Given the description of an element on the screen output the (x, y) to click on. 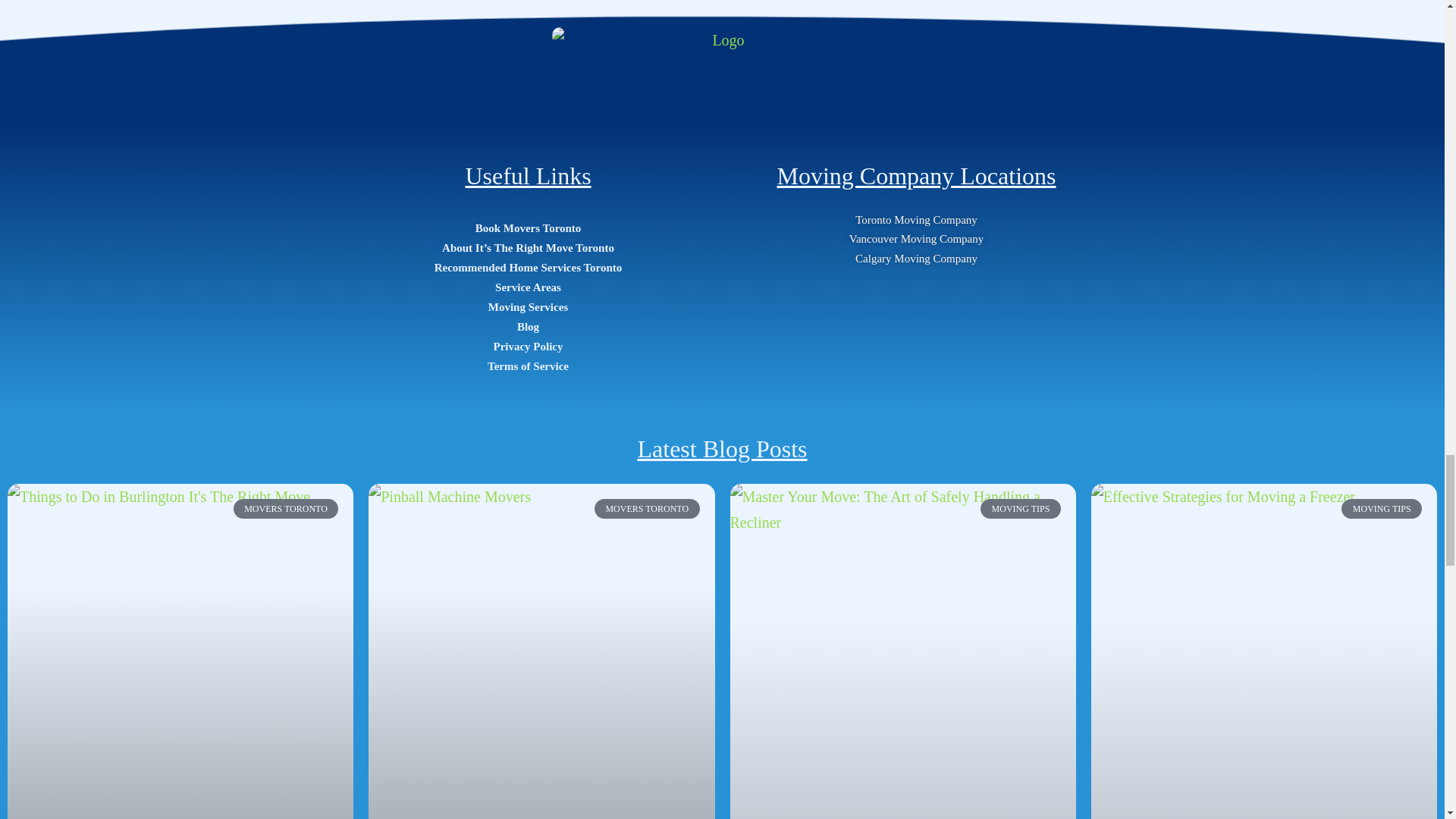
Pinball Machine Movers (541, 582)
Master Your Move: The Art of Safely Handling a Recliner (902, 651)
Logo (721, 65)
Effective Strategies for Moving a Freezer (1264, 651)
